Given the description of an element on the screen output the (x, y) to click on. 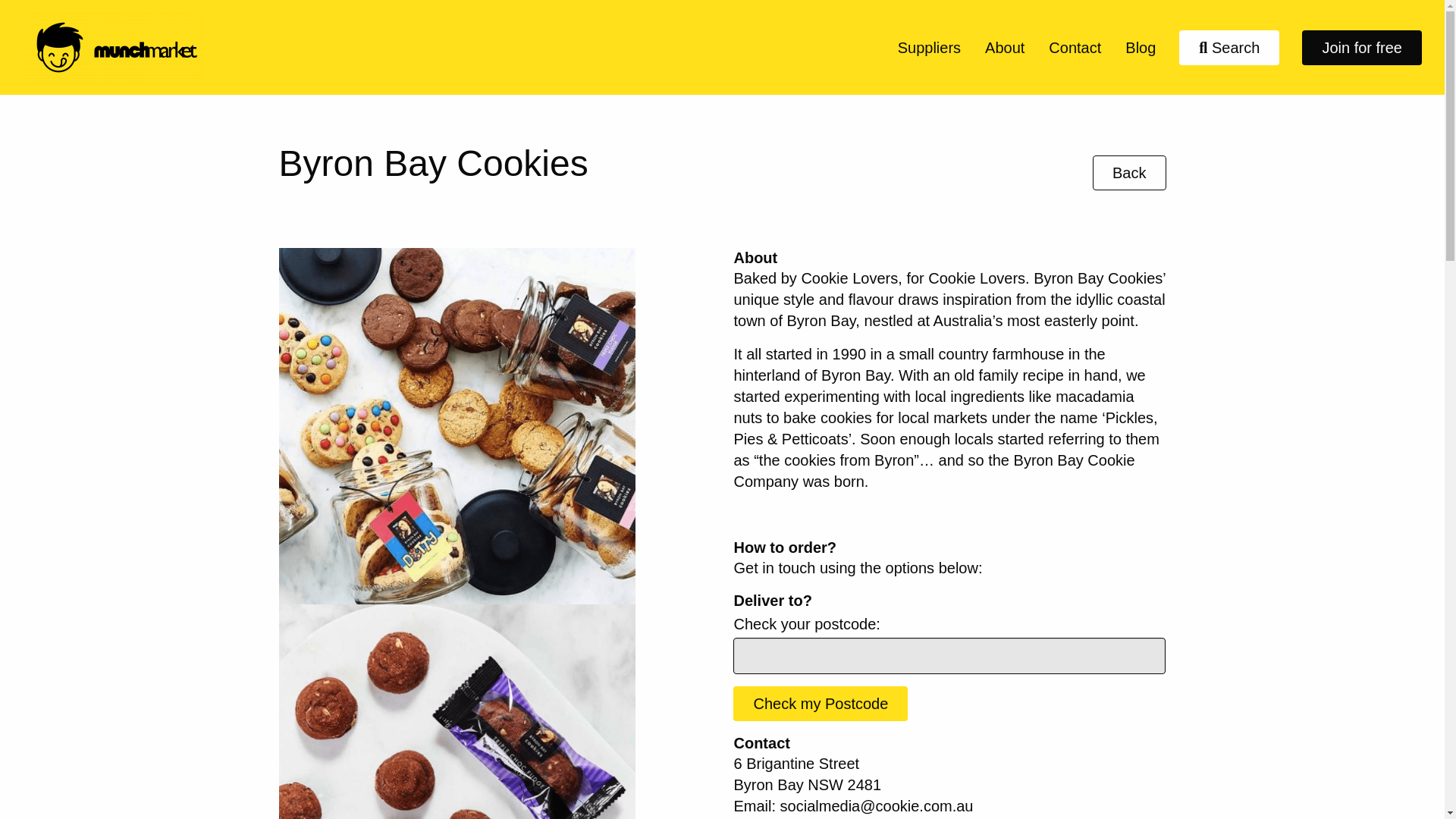
Check my Postcode (820, 703)
Search (1229, 47)
Suppliers (928, 47)
Contact (1074, 47)
Back (1129, 172)
Join for free (1361, 47)
About (1004, 47)
Blog (1140, 47)
